Given the description of an element on the screen output the (x, y) to click on. 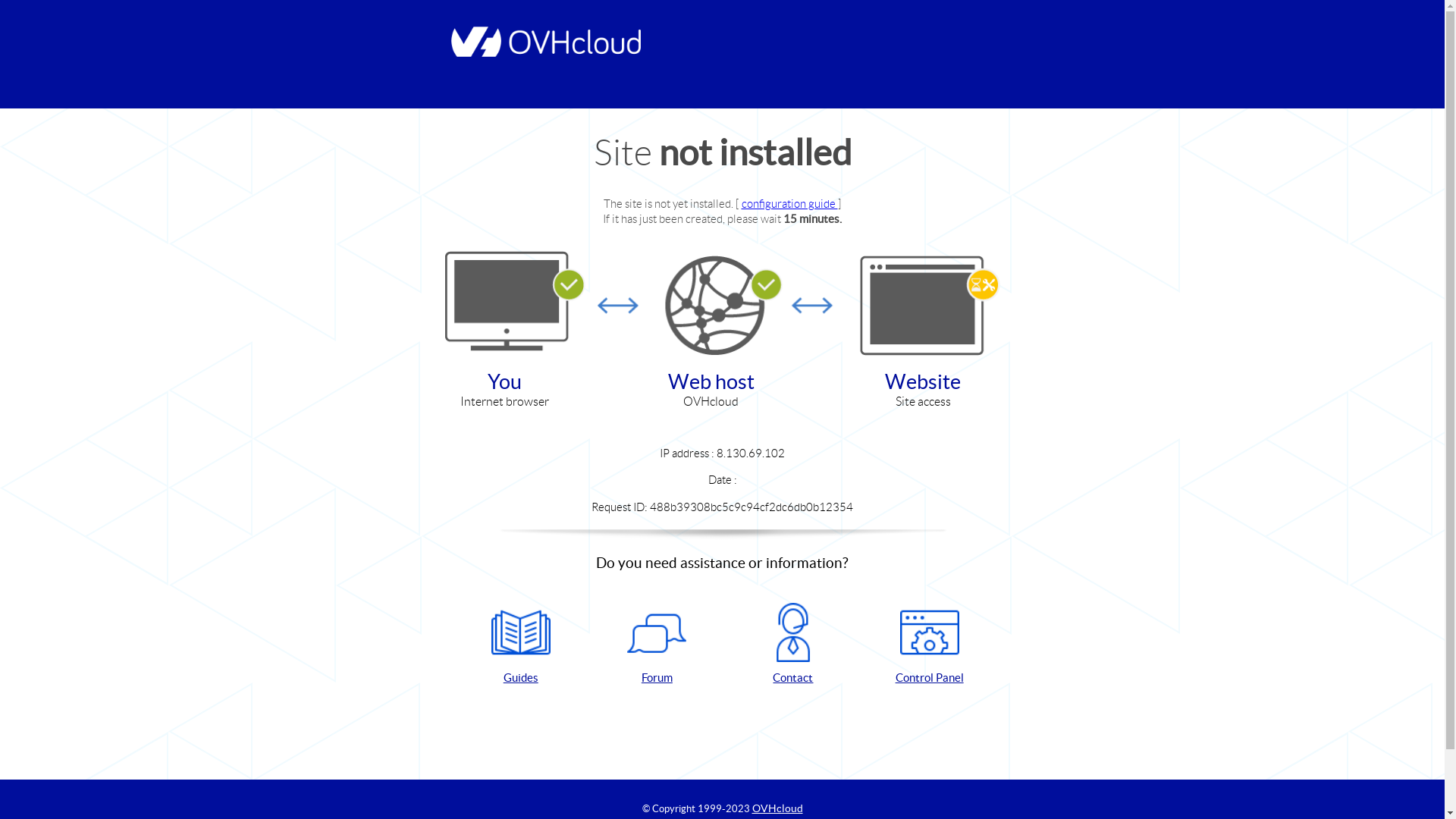
Control Panel Element type: text (929, 644)
OVHcloud Element type: text (777, 808)
configuration guide Element type: text (789, 203)
Forum Element type: text (656, 644)
Guides Element type: text (520, 644)
Contact Element type: text (792, 644)
